Given the description of an element on the screen output the (x, y) to click on. 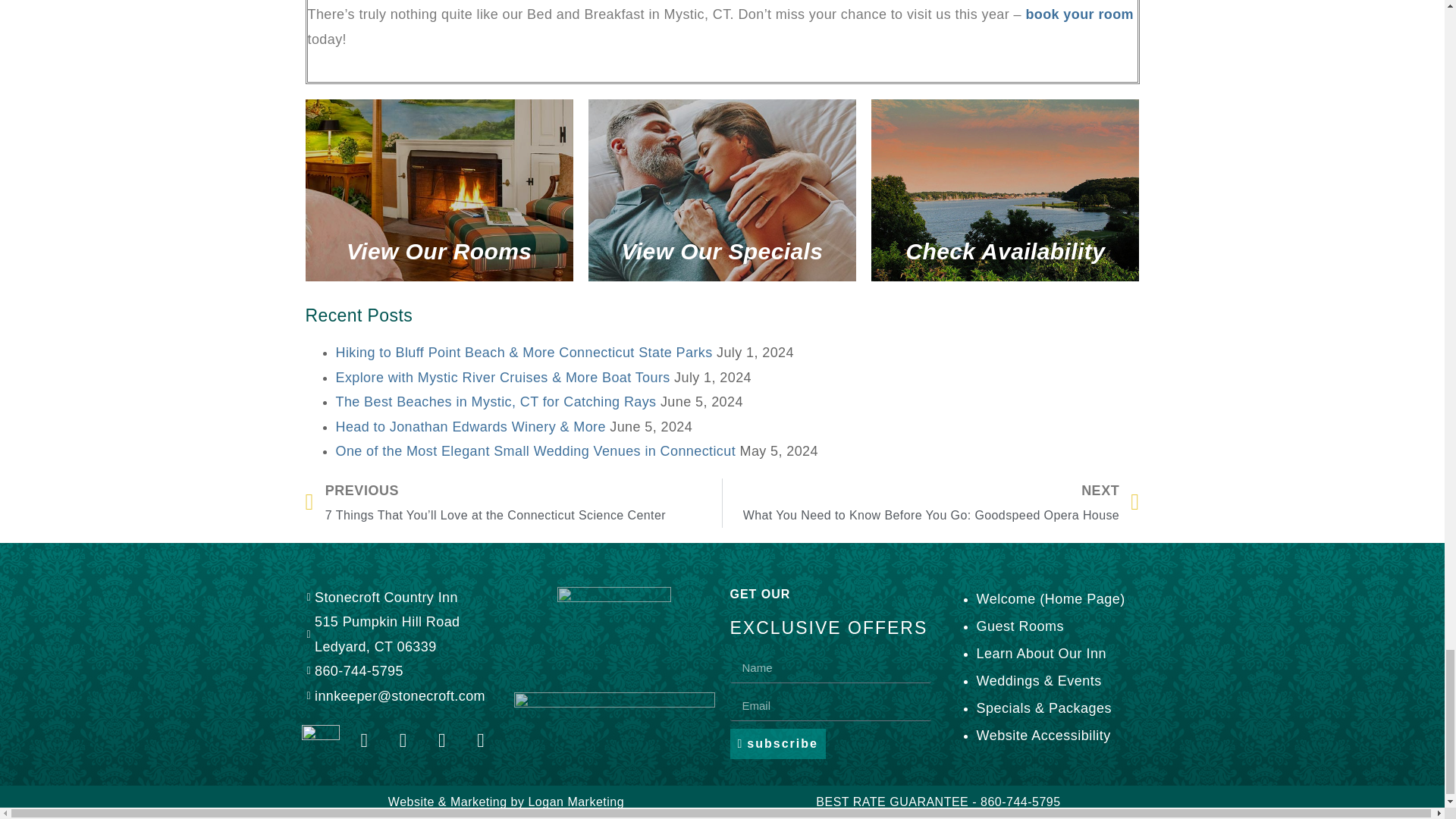
View Our Rooms (438, 190)
The Best Beaches in Mystic, CT for Catching Rays (495, 401)
View Our Specials (722, 190)
One of the Most Elegant Small Wedding Venues in Connecticut (534, 450)
860-744-5795 (397, 671)
Check Availability (1004, 190)
book your room (1079, 14)
